Given the description of an element on the screen output the (x, y) to click on. 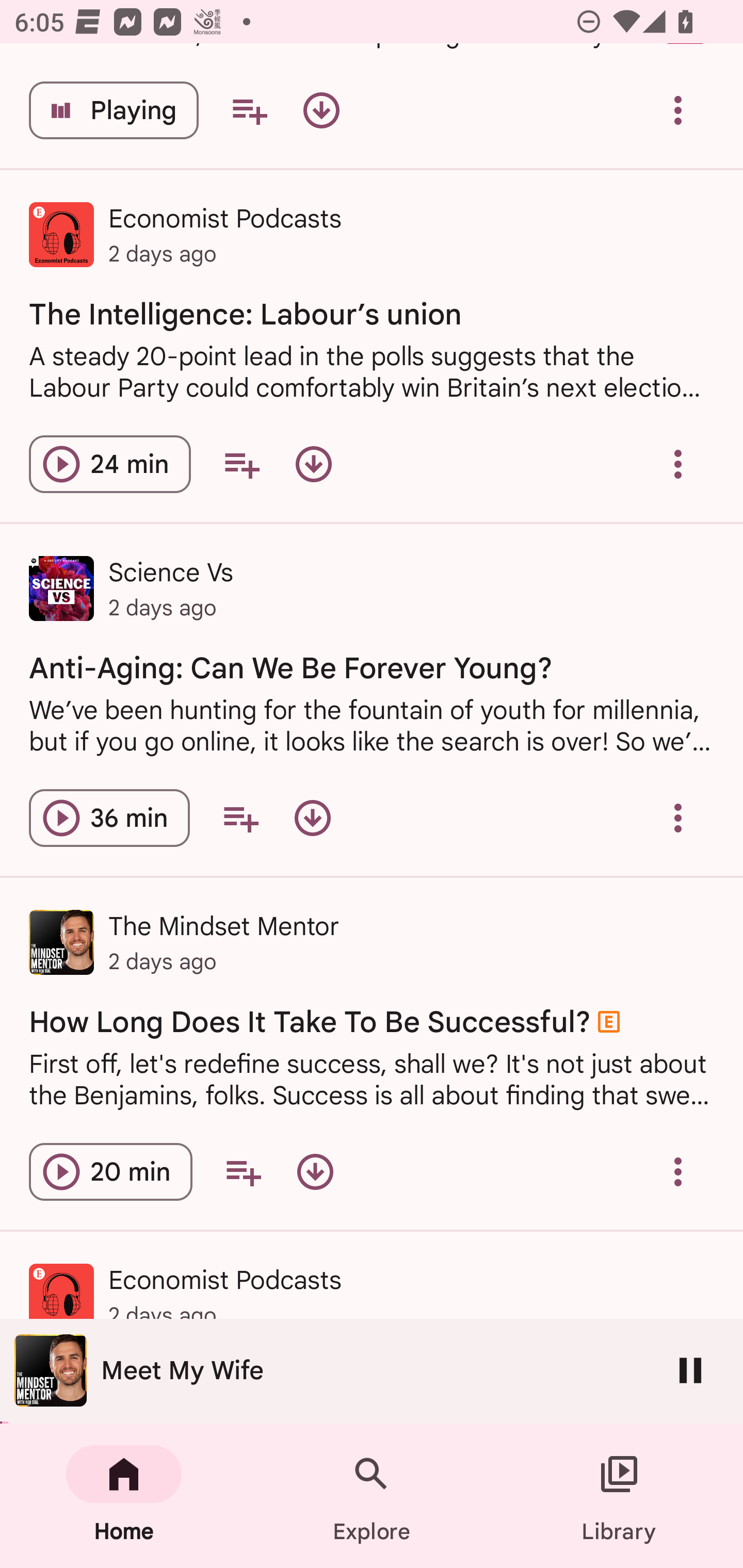
Pause episode Meet My Wife Playing (113, 110)
Add to your queue (249, 110)
Download episode (321, 110)
Overflow menu (677, 110)
Add to your queue (241, 464)
Download episode (313, 464)
Overflow menu (677, 464)
Add to your queue (240, 817)
Download episode (312, 817)
Overflow menu (677, 817)
Add to your queue (242, 1171)
Download episode (315, 1171)
Overflow menu (677, 1171)
The Mindset Mentor Meet My Wife Pause 22.0 (371, 1370)
Pause (690, 1370)
Explore (371, 1495)
Library (619, 1495)
